Given the description of an element on the screen output the (x, y) to click on. 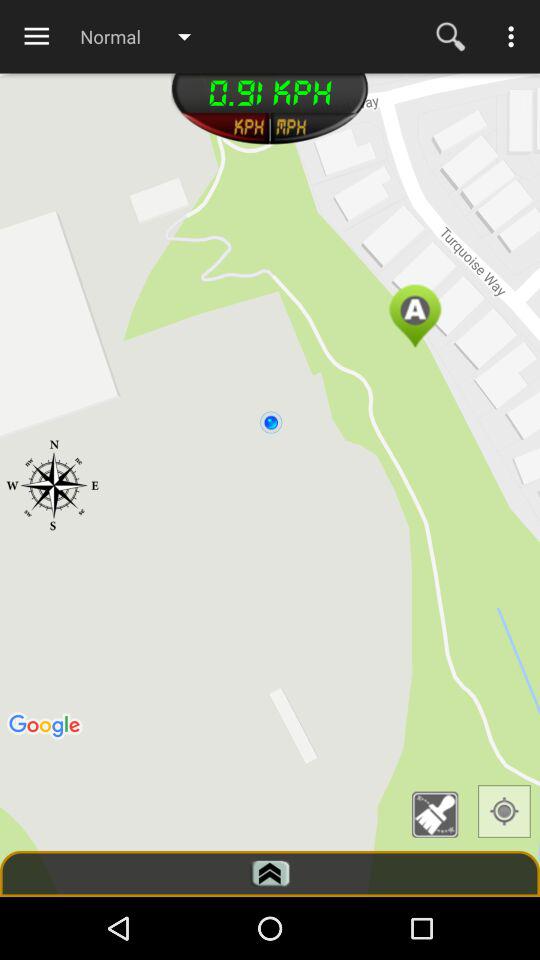
unit of measure selection (224, 128)
